Given the description of an element on the screen output the (x, y) to click on. 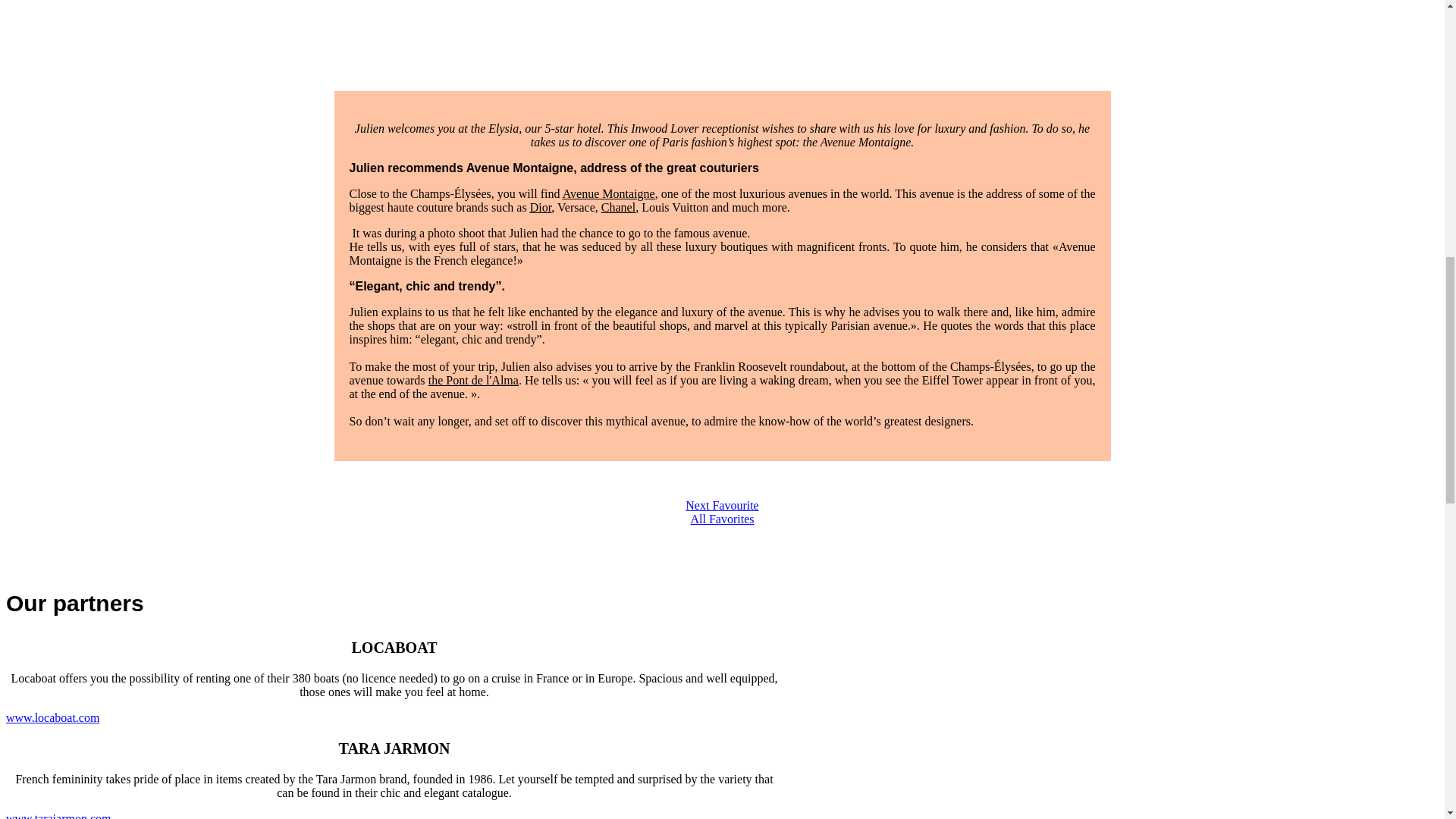
Avenue Montaigne (608, 193)
www.tarajarmon.com (57, 815)
www.locaboat.com (52, 717)
Next Favourite (721, 504)
Chanel (617, 206)
the Pont de l'Alma (473, 379)
All Favorites (722, 518)
Dior (540, 206)
